Given the description of an element on the screen output the (x, y) to click on. 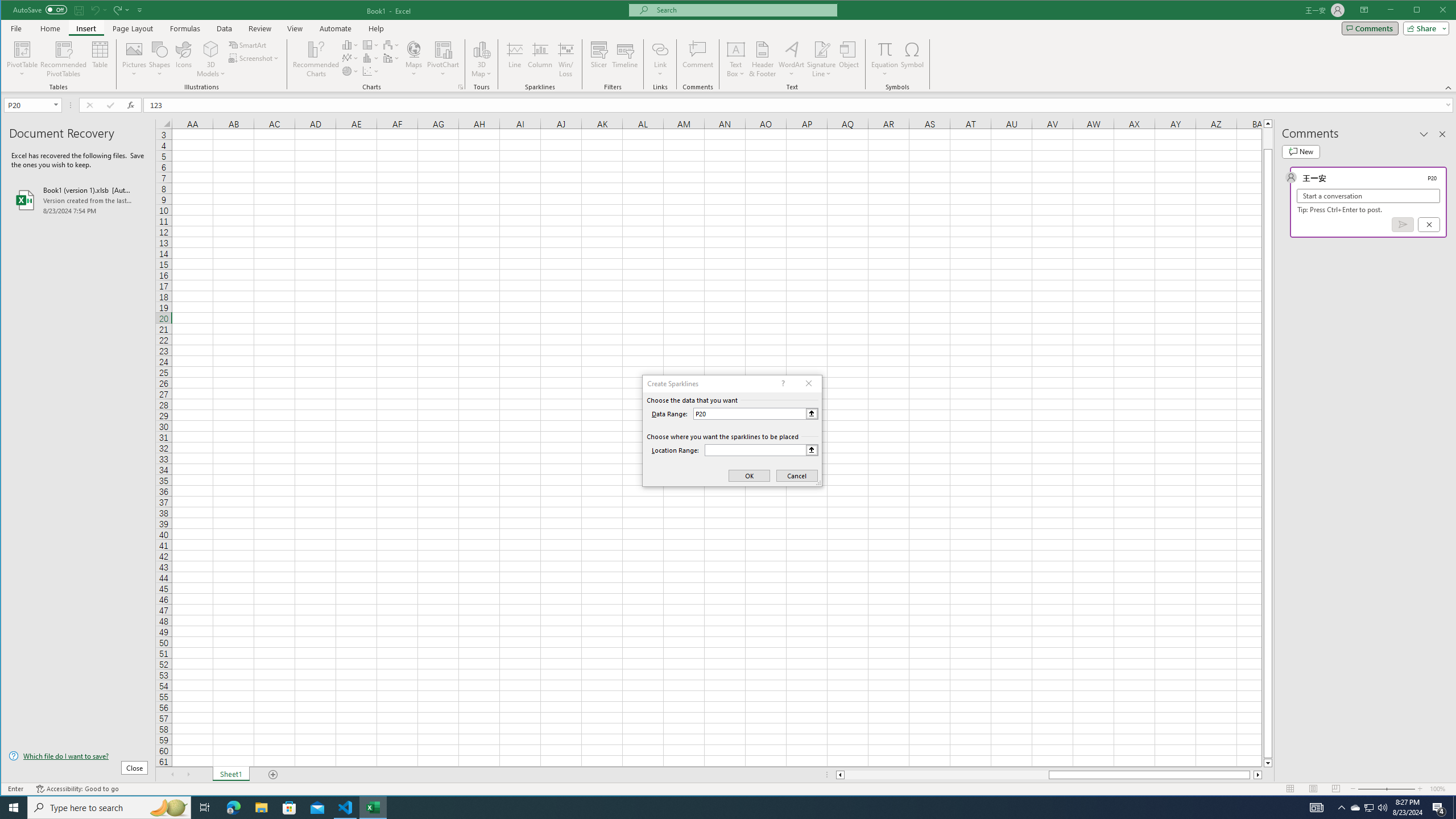
WordArt (791, 59)
Insert Column or Bar Chart (350, 44)
Table (100, 59)
Column (540, 59)
Screenshot (254, 57)
Comment (697, 59)
Insert Pie or Doughnut Chart (350, 70)
